Given the description of an element on the screen output the (x, y) to click on. 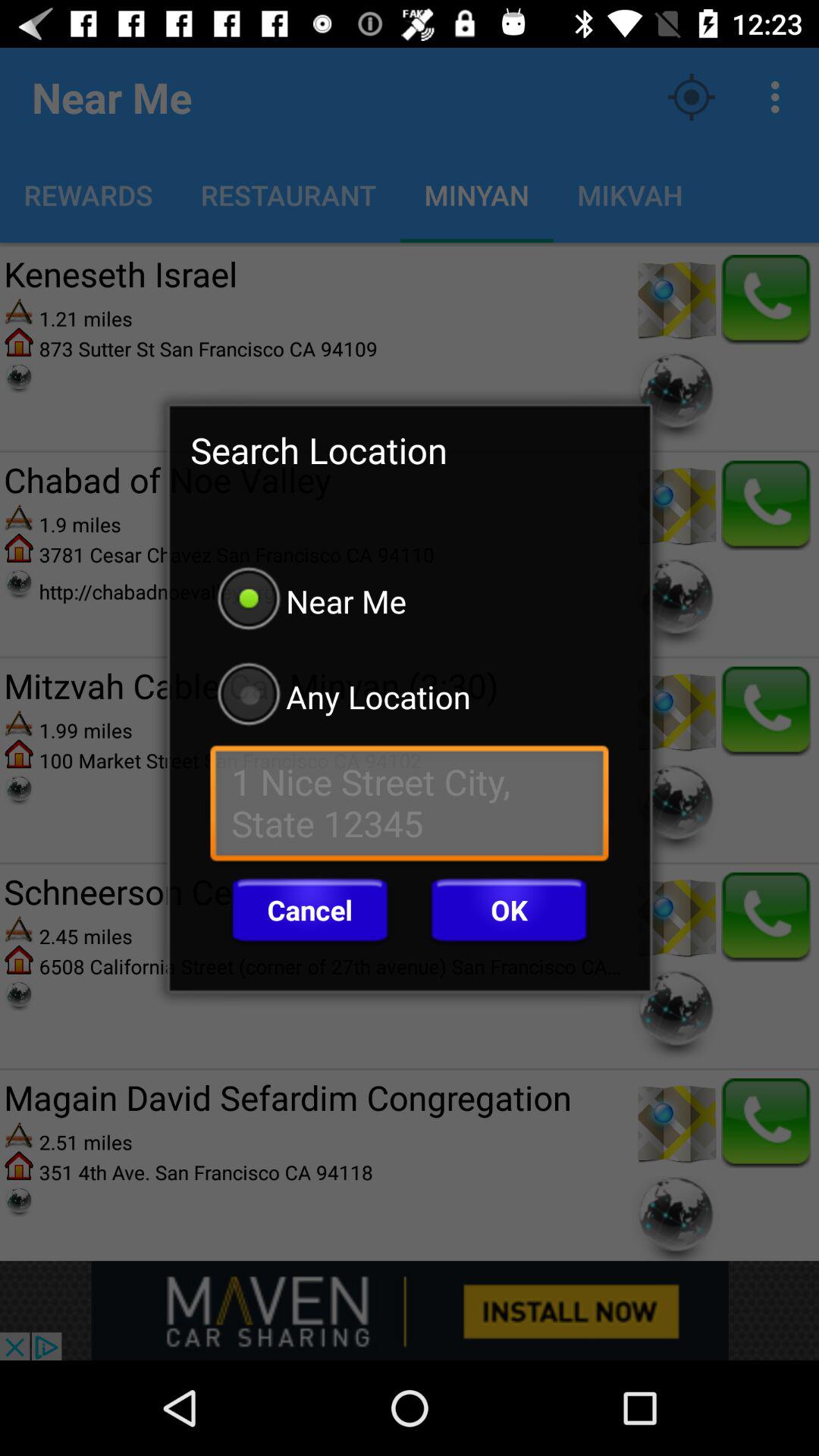
swipe to cancel item (309, 909)
